Given the description of an element on the screen output the (x, y) to click on. 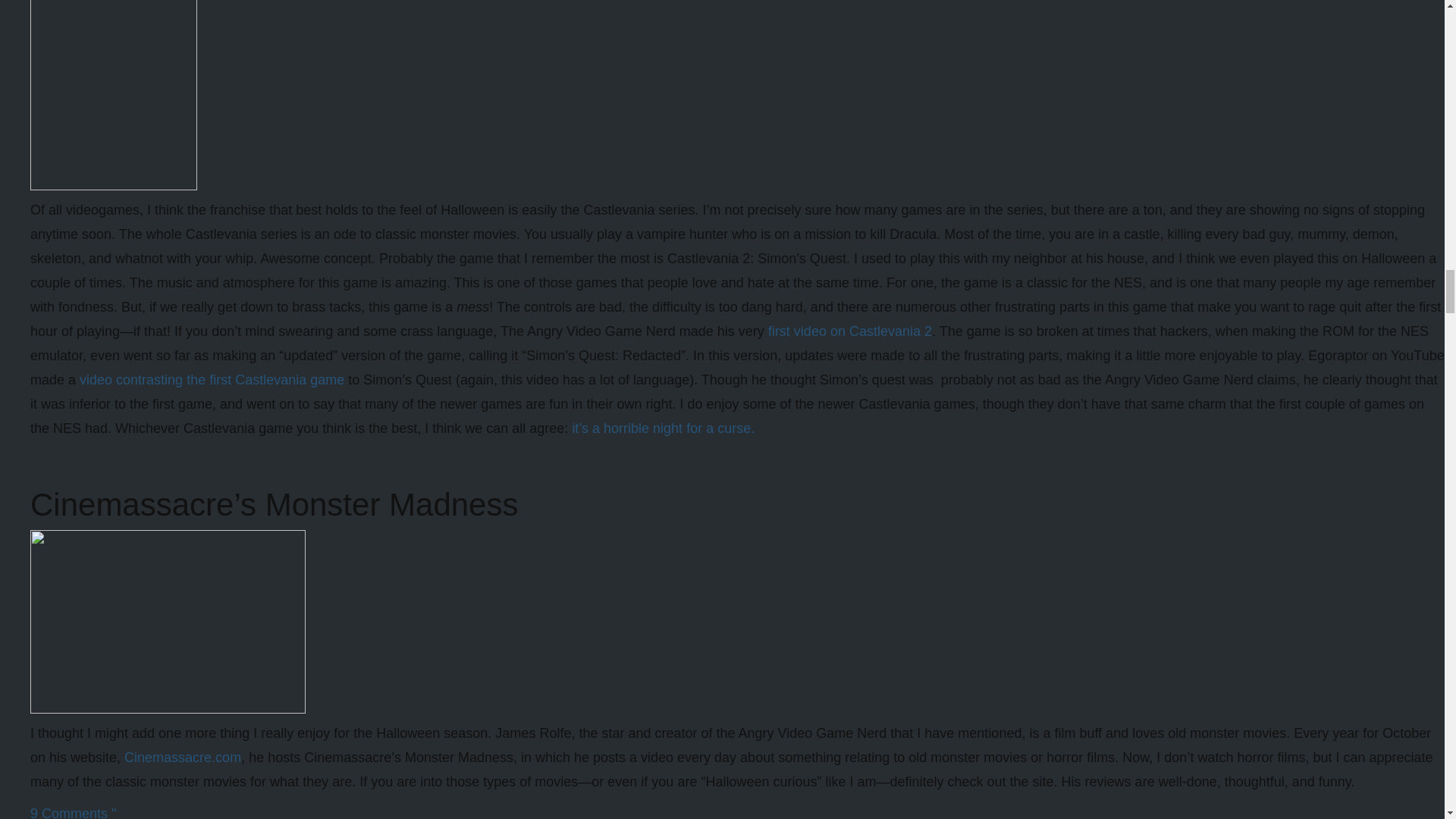
video contrasting the first Castlevania game (211, 379)
first video on Castlevania 2 (849, 331)
Cinemassacre.com (182, 757)
9 Comments " (73, 812)
